Given the description of an element on the screen output the (x, y) to click on. 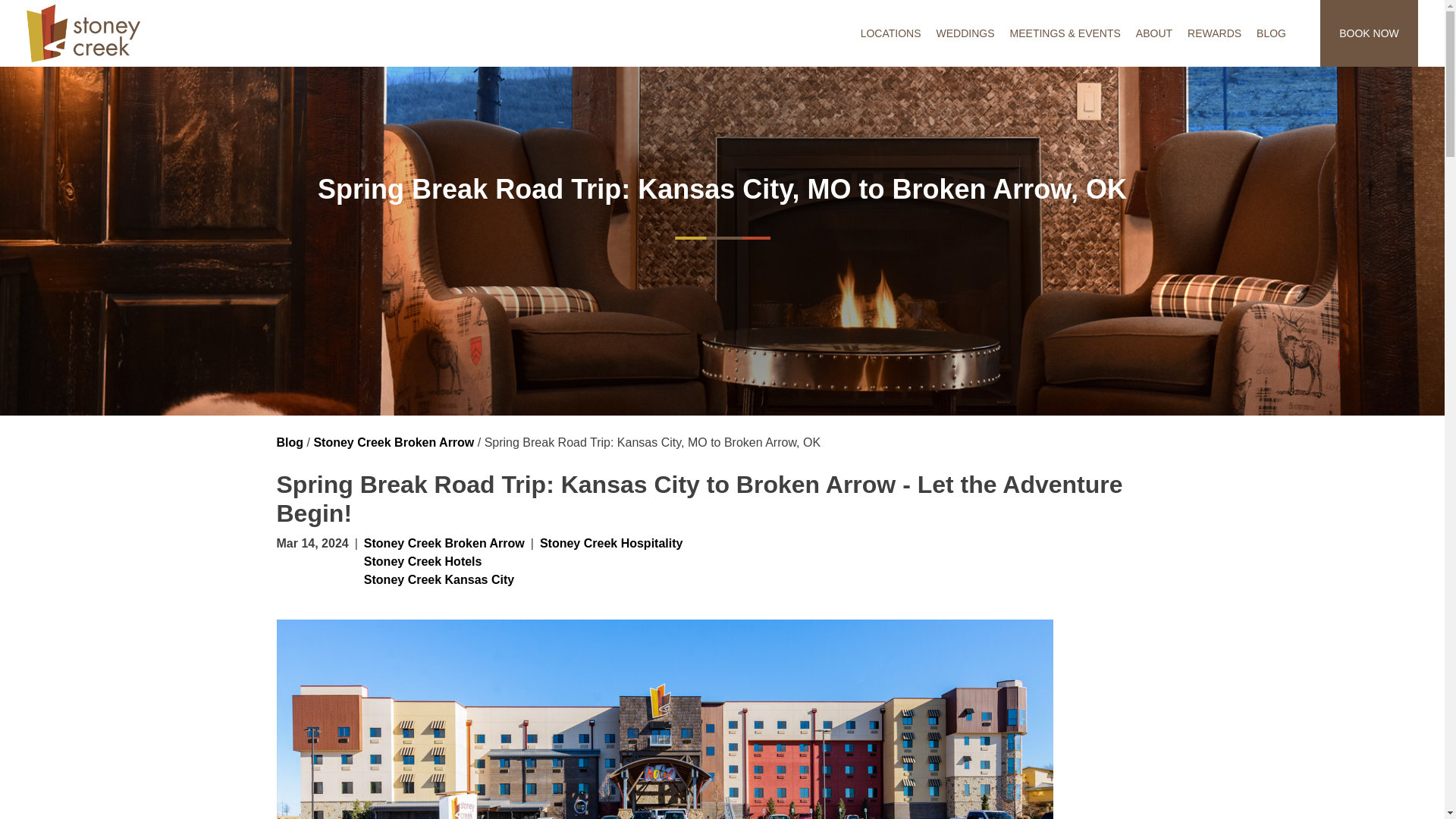
BOOK NOW (1369, 33)
WEDDINGS (965, 32)
LOCATIONS (890, 32)
Stoney Creek Hotels (422, 561)
Stoney Creek Hospitality (608, 567)
Stoney Creek Broken Arrow (444, 543)
Stoney Creek Kansas City (438, 579)
BLOG (1271, 32)
Stoney Creek Broken Arrow (393, 441)
Blog (289, 441)
REWARDS (1214, 32)
ABOUT (1153, 32)
